Given the description of an element on the screen output the (x, y) to click on. 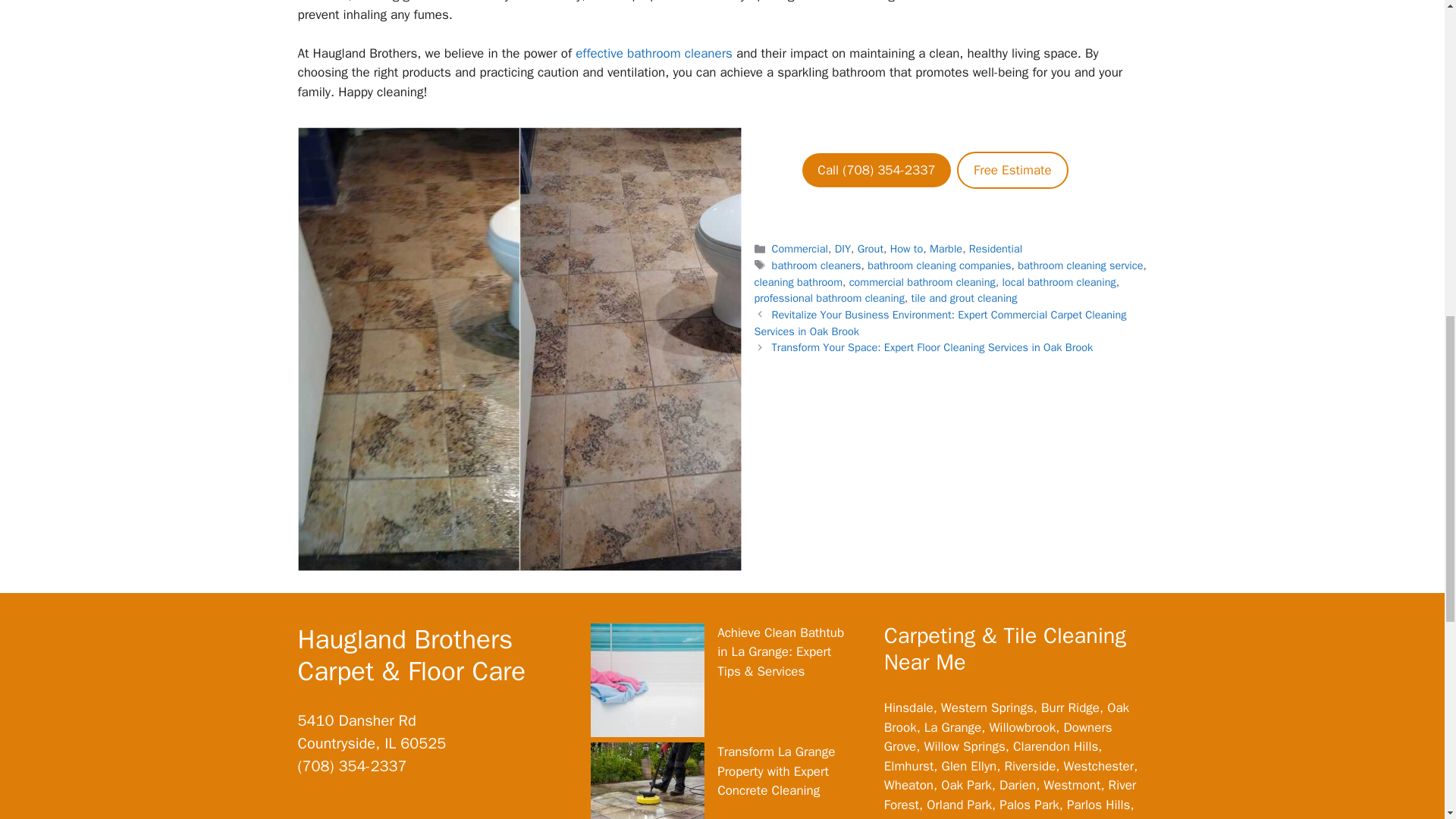
Free Estimate (1012, 170)
Residential (995, 248)
effective bathroom cleaners (653, 53)
How to (906, 248)
Marble (946, 248)
bathroom cleaning service (1079, 264)
bathroom cleaning companies (938, 264)
DIY (842, 248)
Grout (870, 248)
Commercial (799, 248)
bathroom cleaners (816, 264)
cleaning bathroom (797, 282)
